Given the description of an element on the screen output the (x, y) to click on. 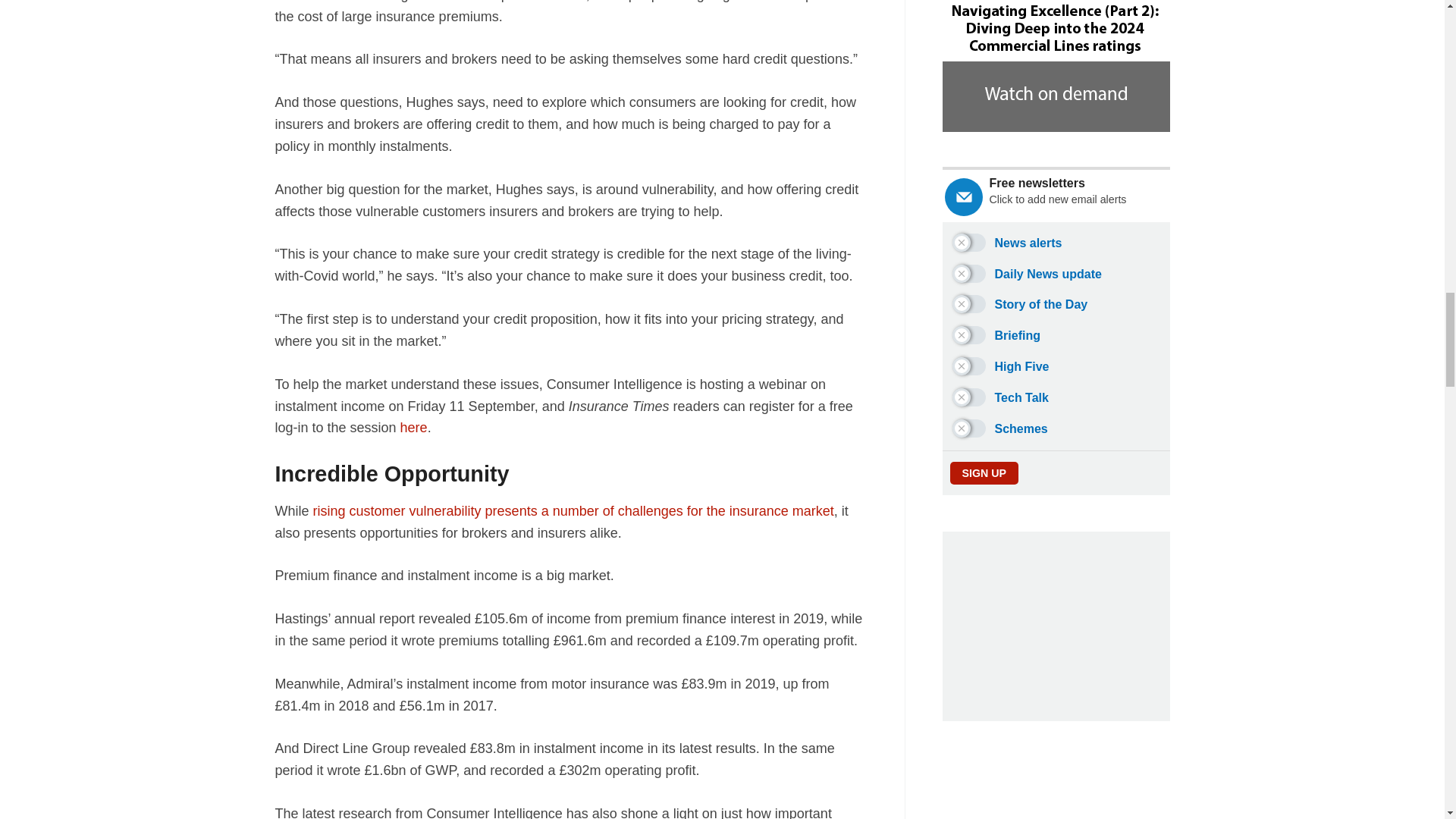
3rd party ad content (1055, 626)
